Given the description of an element on the screen output the (x, y) to click on. 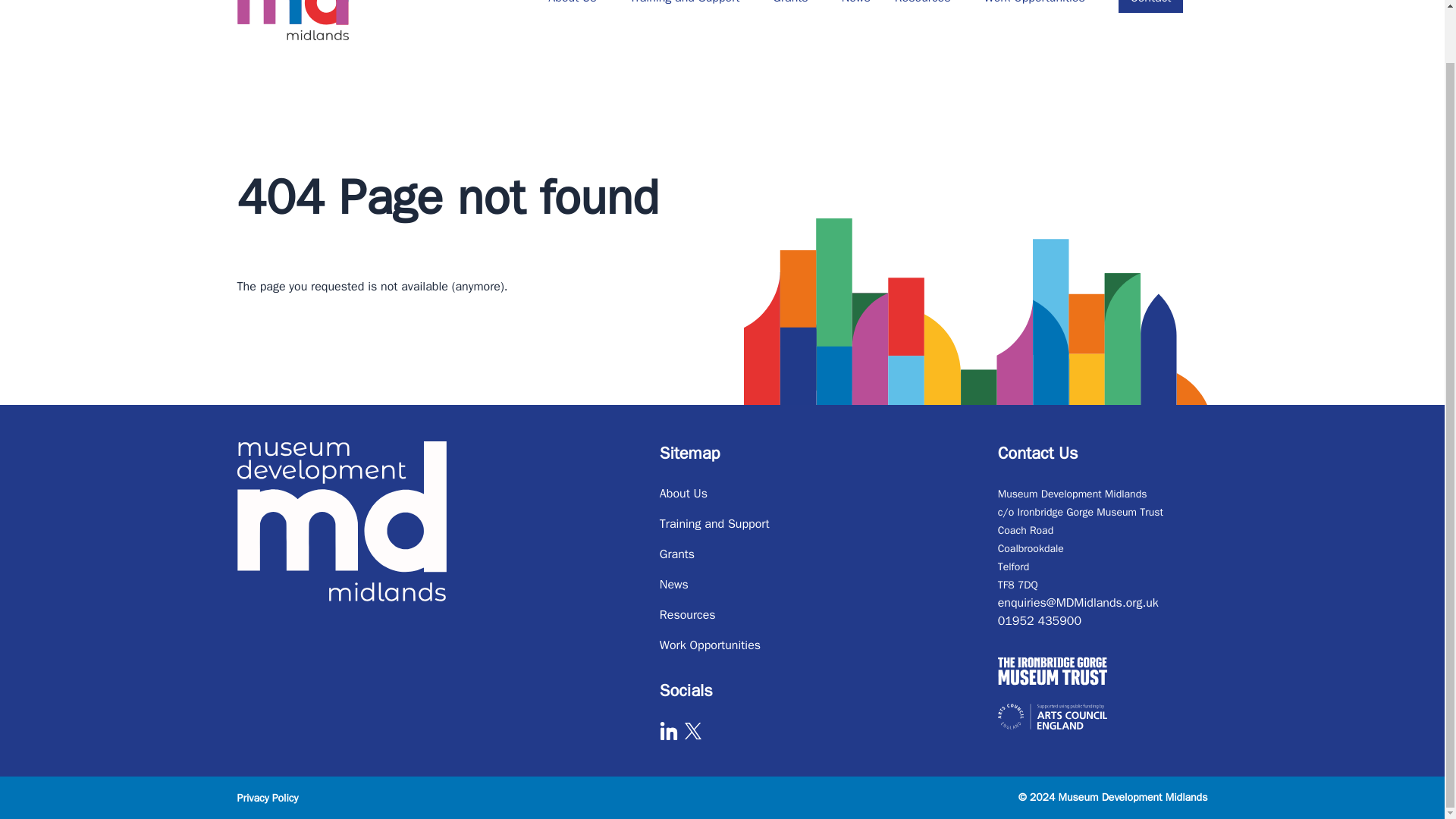
About Us (576, 3)
News (855, 3)
Training and Support (689, 3)
Grants (794, 3)
Resources (927, 3)
